Given the description of an element on the screen output the (x, y) to click on. 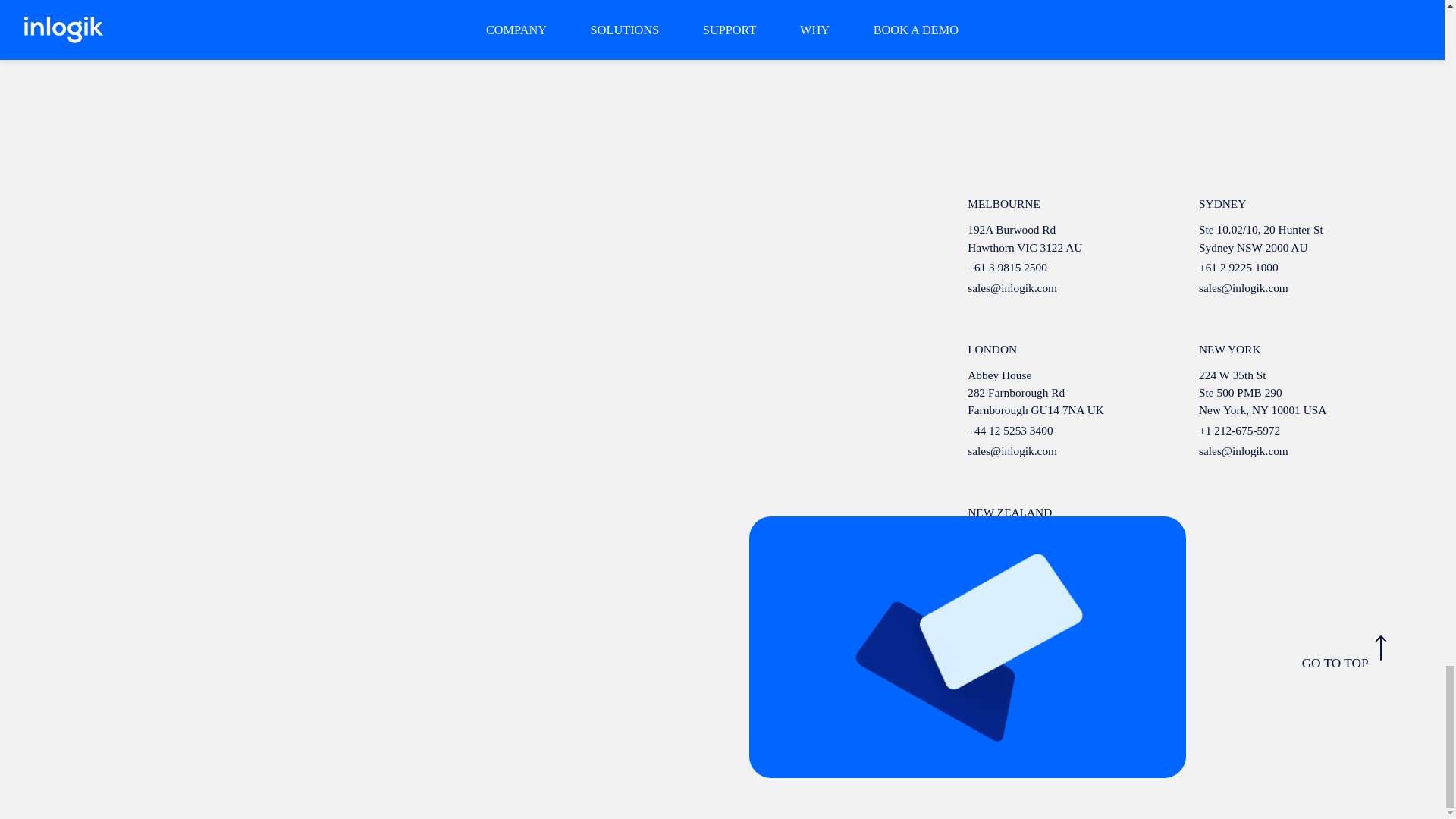
GO TO TOP (1344, 652)
